Given the description of an element on the screen output the (x, y) to click on. 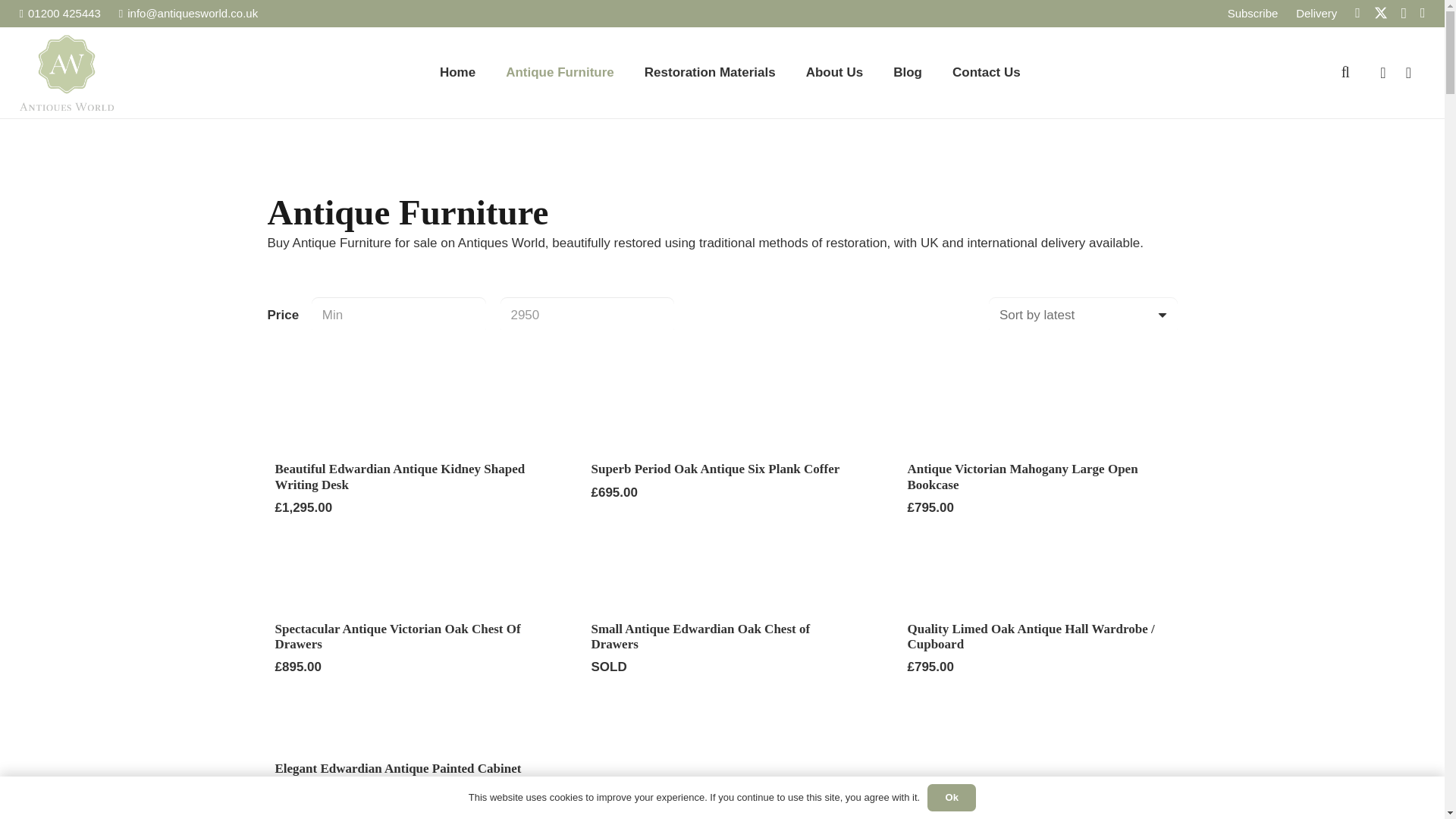
01200 425443 (60, 12)
Instagram (1403, 13)
Twitter (1380, 12)
Home (457, 72)
Subscribe (1252, 12)
Pinterest (1423, 12)
Facebook (1357, 12)
Restoration Materials (709, 72)
Antique Furniture (559, 72)
Delivery (1315, 12)
